Given the description of an element on the screen output the (x, y) to click on. 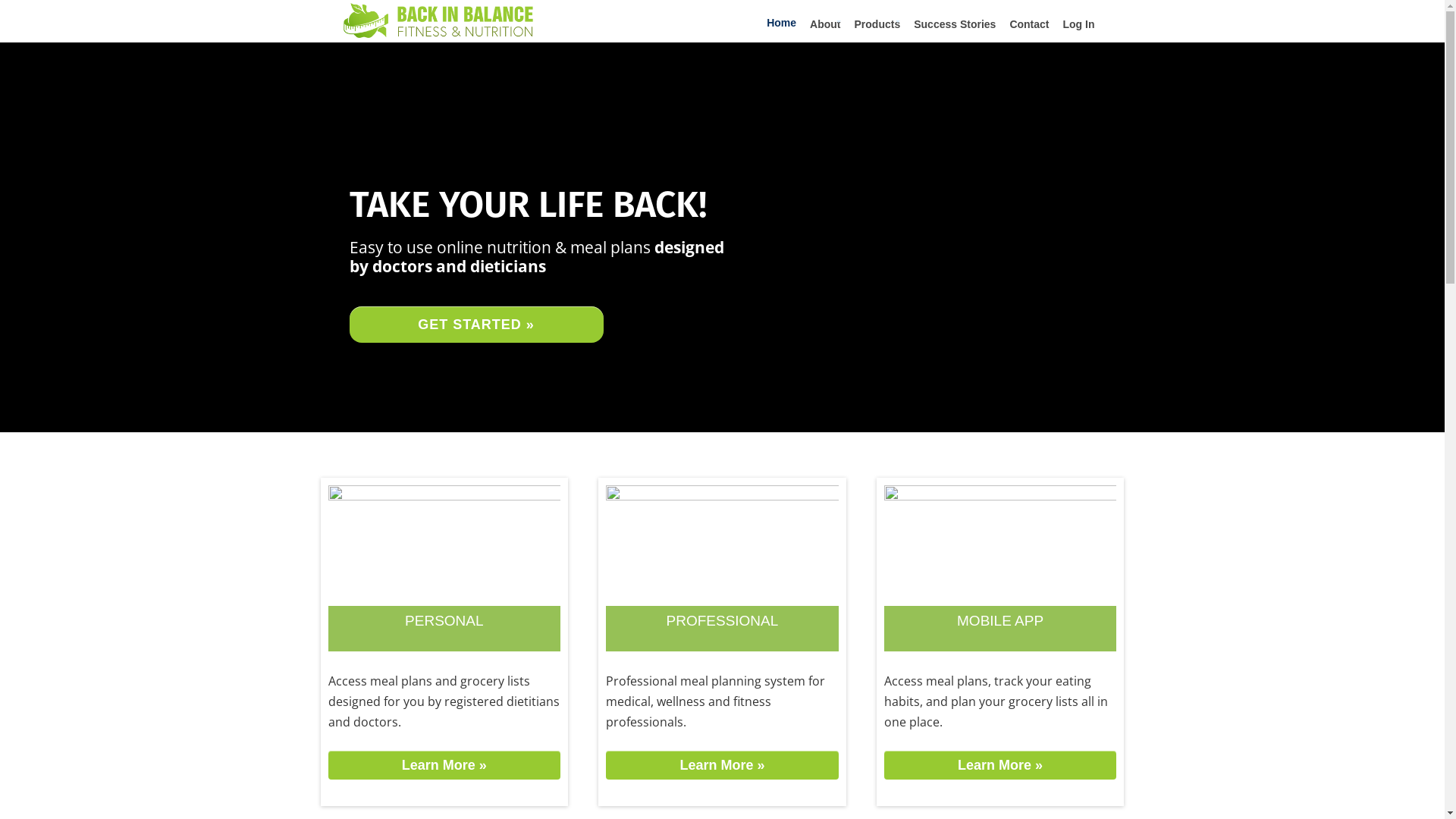
Home Element type: text (781, 22)
About Element type: text (824, 24)
Contact Element type: text (1029, 24)
Log In Element type: text (1078, 24)
Back in Balance Element type: hover (437, 32)
Success Stories Element type: text (954, 24)
Products Element type: text (877, 24)
